Given the description of an element on the screen output the (x, y) to click on. 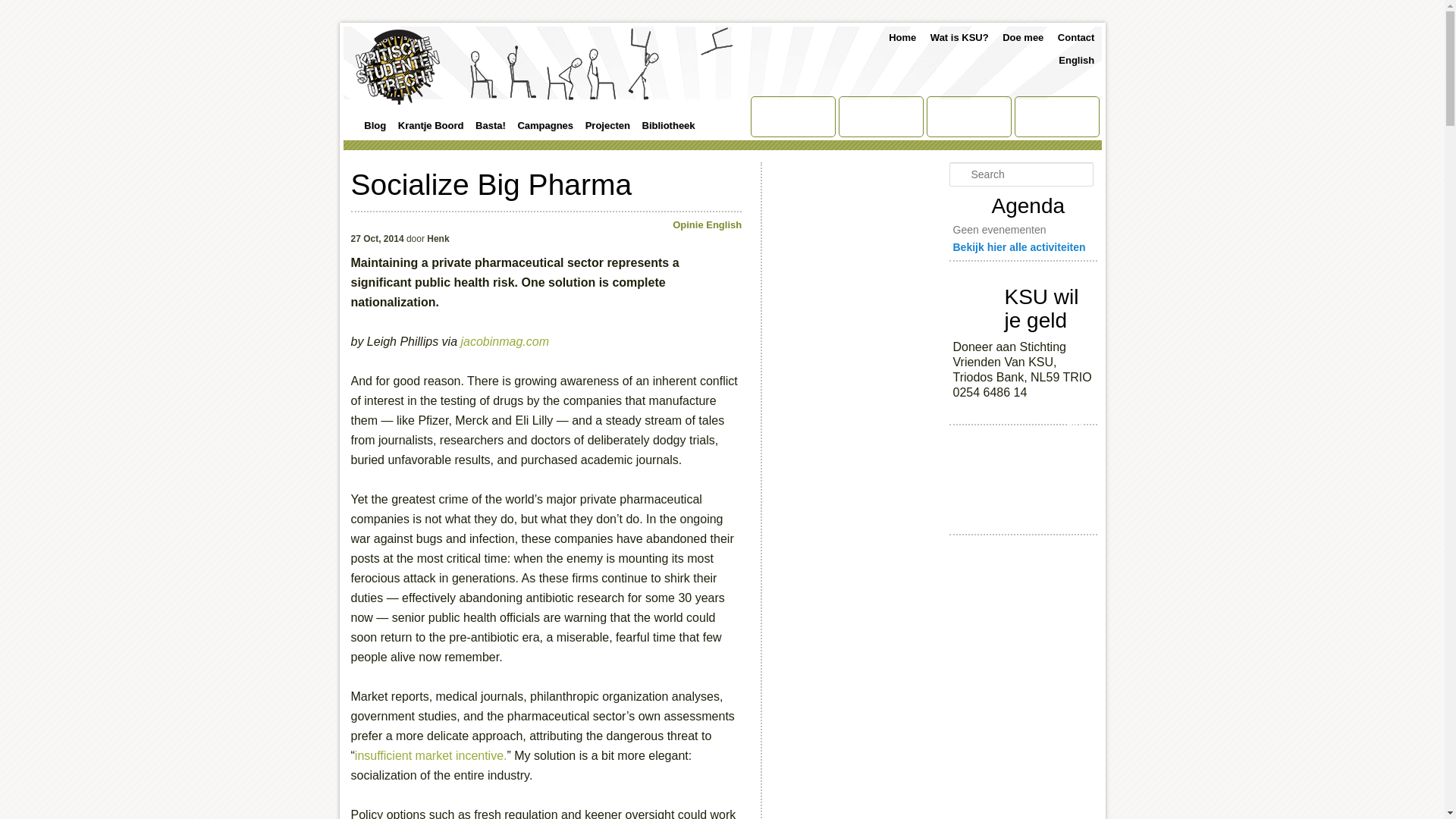
Blog (371, 126)
Campagnes (542, 126)
Doneer aan Kritsche Studenten Utrecht (1077, 422)
Kritische Studenten Utrecht (398, 66)
Basta! (486, 126)
Krantje Boord (426, 126)
Bekijk hier alle activiteiten (1018, 246)
08:00 (376, 238)
